Given the description of an element on the screen output the (x, y) to click on. 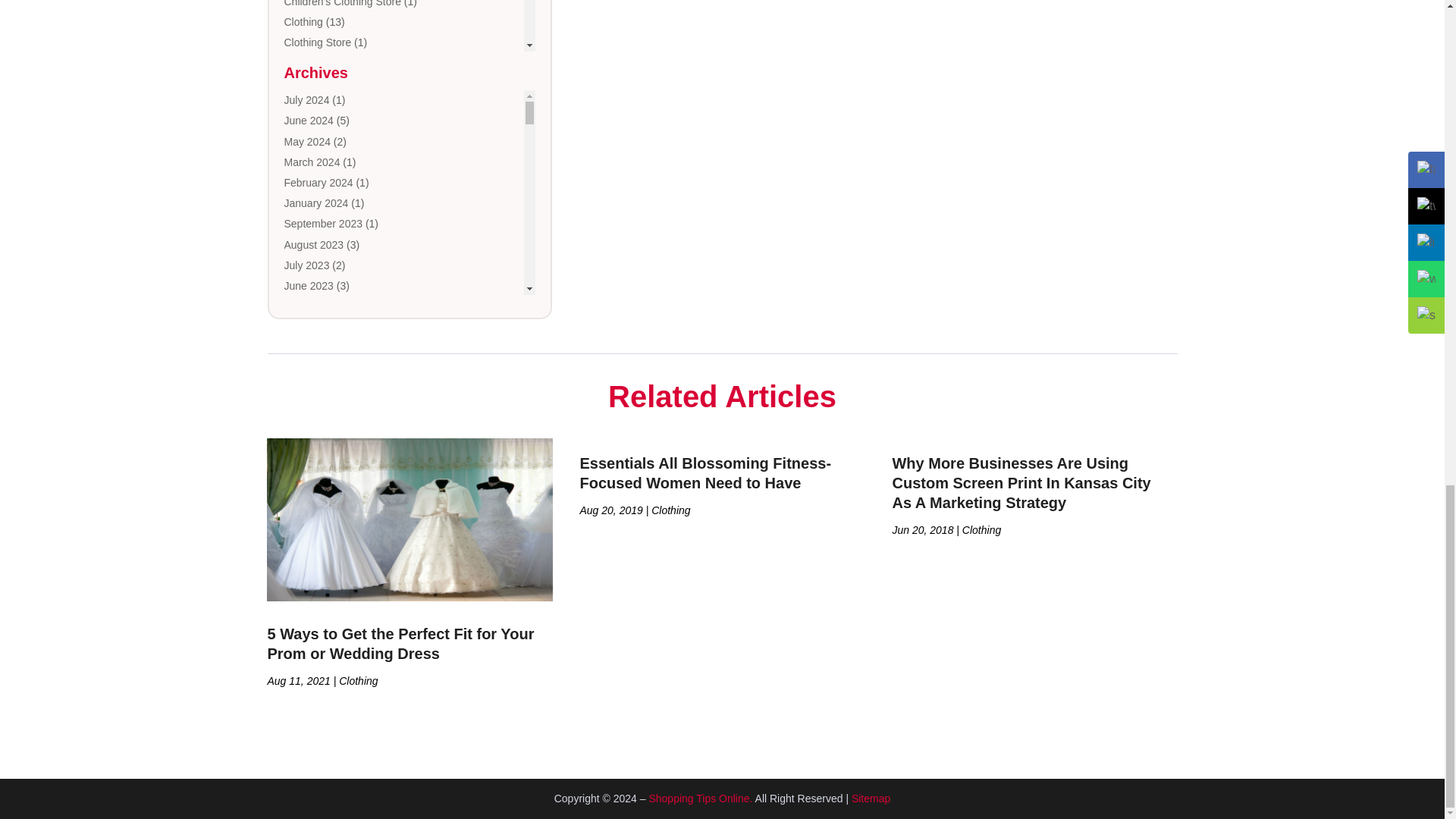
Children'S Clothing Store (341, 3)
Diamond Jewelry (324, 145)
Custom Jewelry (321, 124)
Clothing (302, 21)
Clothing Store (316, 42)
Cosmetics Store (322, 103)
Electronics (308, 165)
Coffee And Tea (319, 62)
Exercise Equipment Store (344, 186)
